Given the description of an element on the screen output the (x, y) to click on. 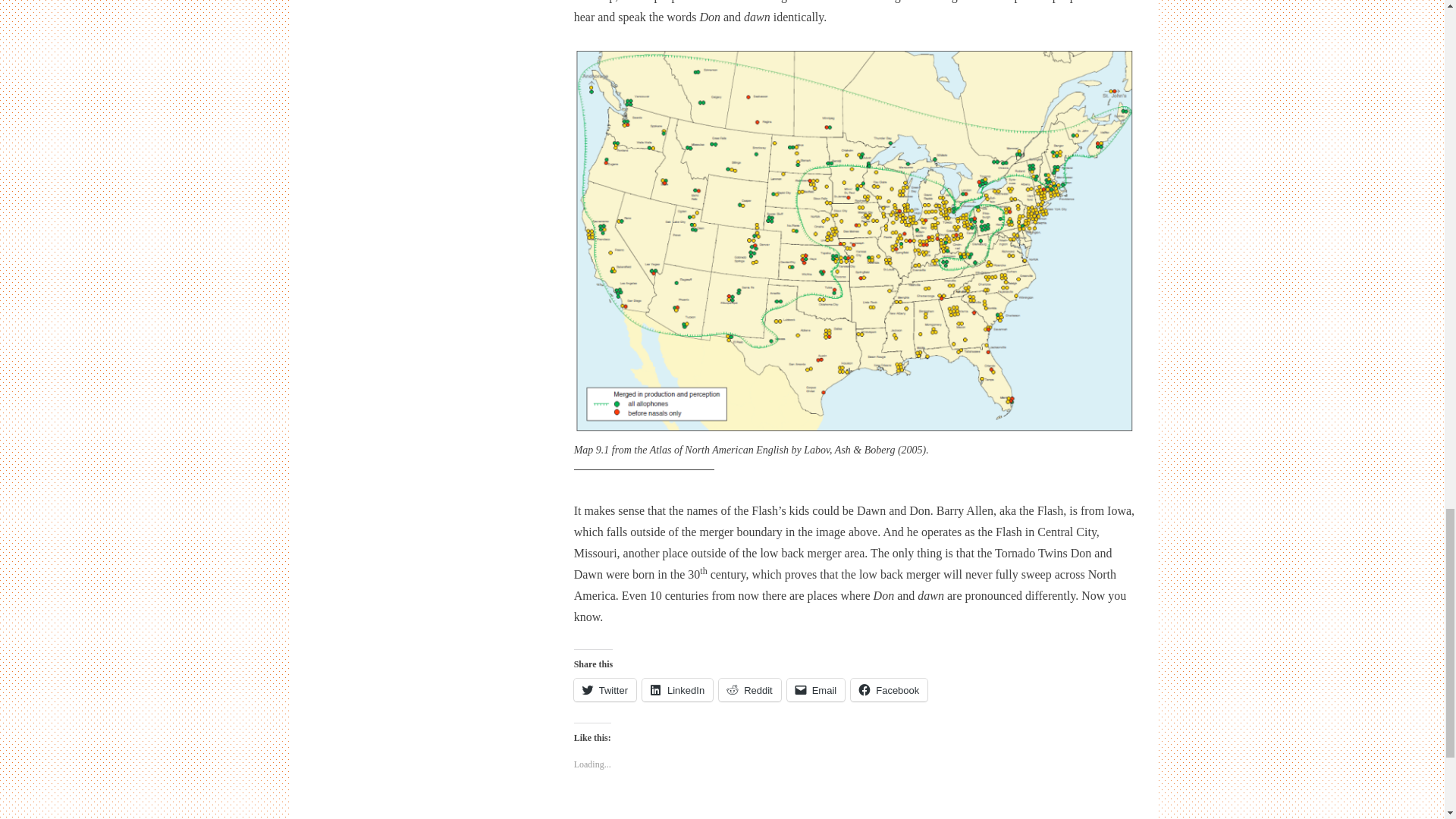
Twitter (604, 689)
Click to share on Twitter (604, 689)
Click to share on Reddit (749, 689)
Click to email a link to a friend (816, 689)
Reddit (749, 689)
LinkedIn (677, 689)
Click to share on Facebook (888, 689)
Click to share on LinkedIn (677, 689)
Email (816, 689)
Facebook (888, 689)
